Given the description of an element on the screen output the (x, y) to click on. 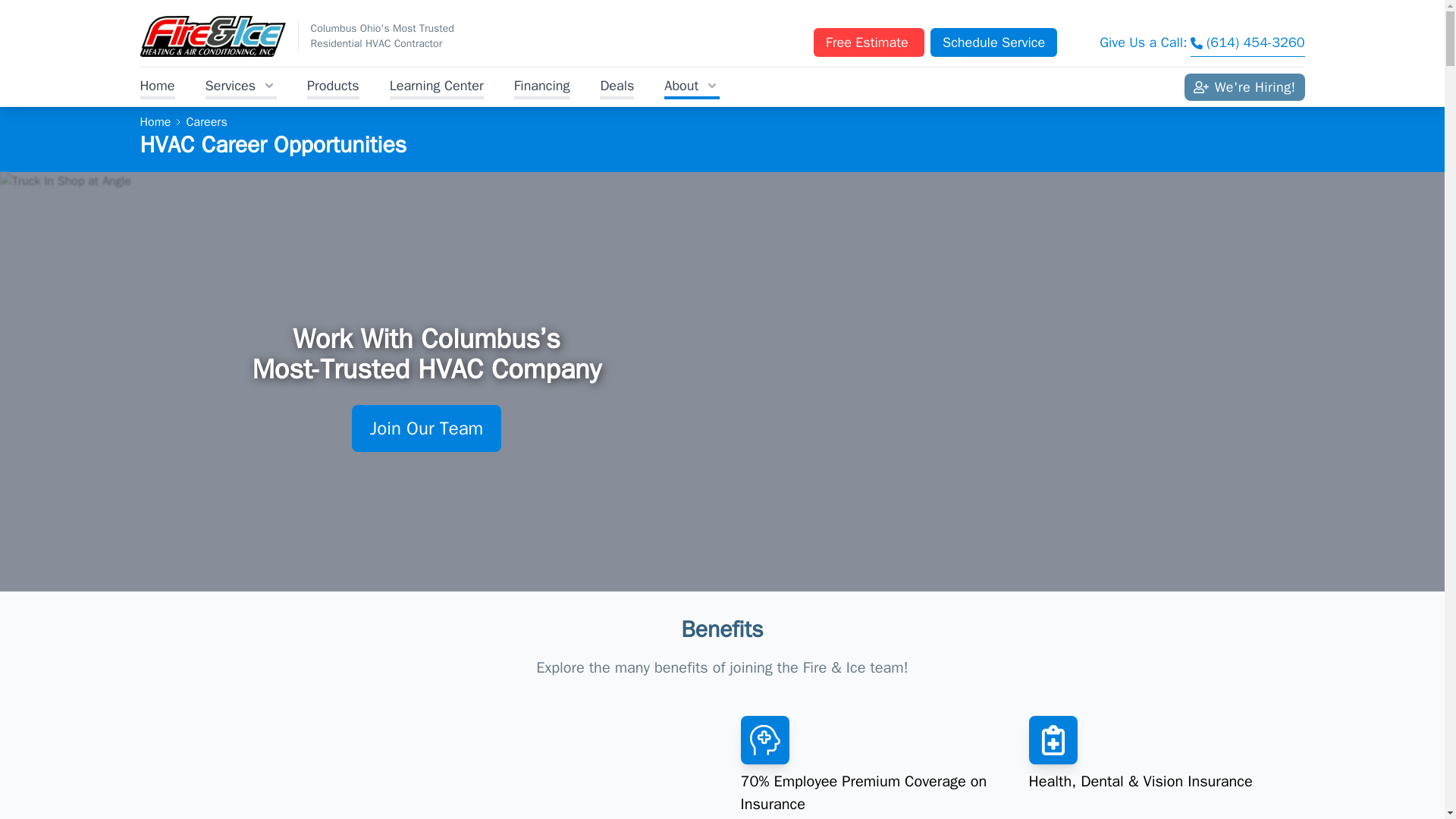
Fire and Ice (212, 36)
Home (156, 87)
Schedule Service (993, 41)
Free Estimate (868, 41)
Schedule Service (993, 41)
Free Estimate (868, 41)
Services (241, 87)
